Given the description of an element on the screen output the (x, y) to click on. 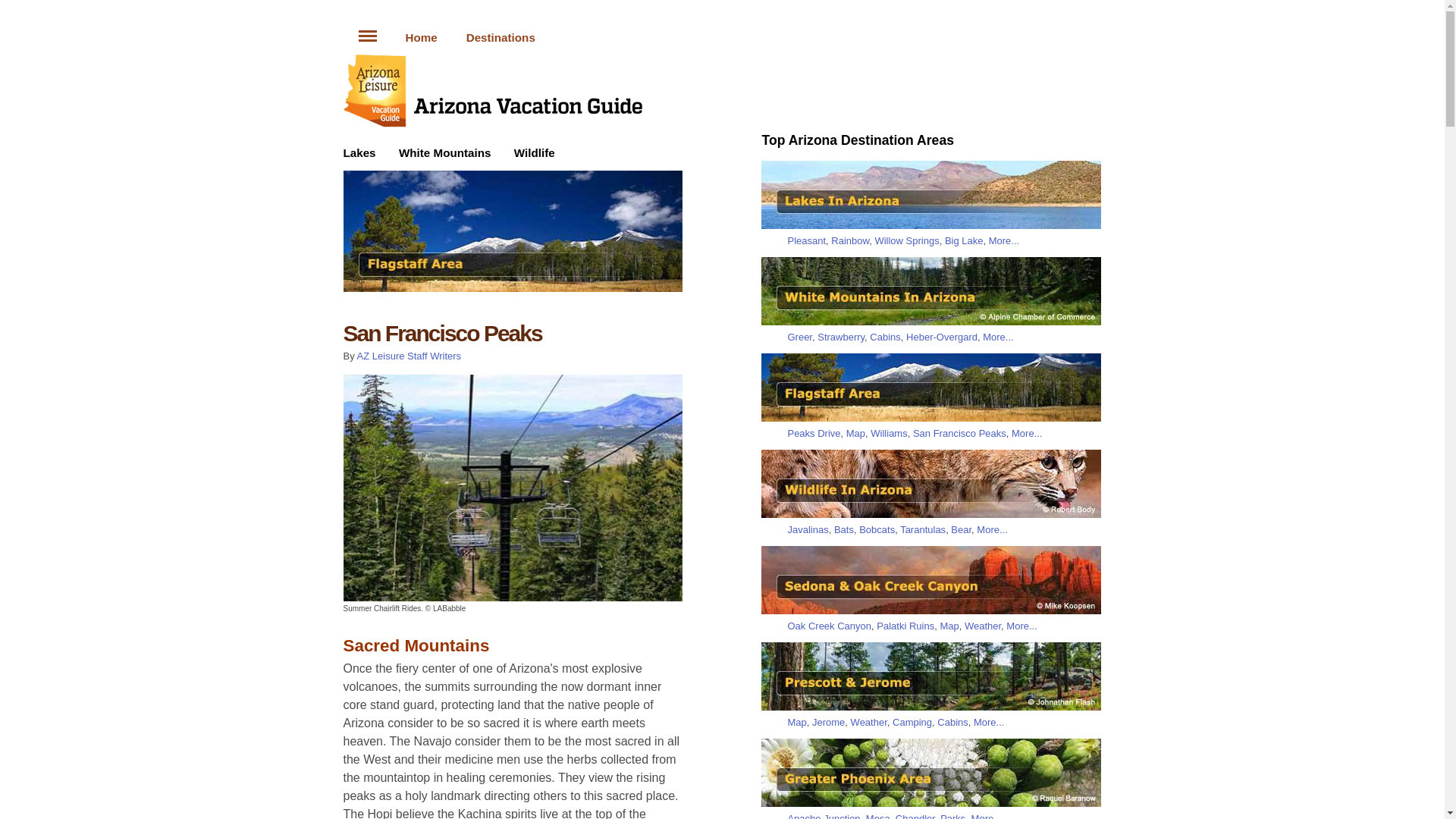
White Mountains (455, 152)
AZ Leisure Staff Writers (408, 355)
Popular Destinations In Arizona (500, 37)
Arizona Lakes (369, 152)
Flagstaff, Arizona (512, 290)
Lakes (369, 152)
Wildlife In Arizona (533, 152)
Home (434, 37)
Arizona Vacation Guide (434, 37)
Destinations (500, 37)
White Mountains In Arizona (455, 152)
Wildlife (533, 152)
